Given the description of an element on the screen output the (x, y) to click on. 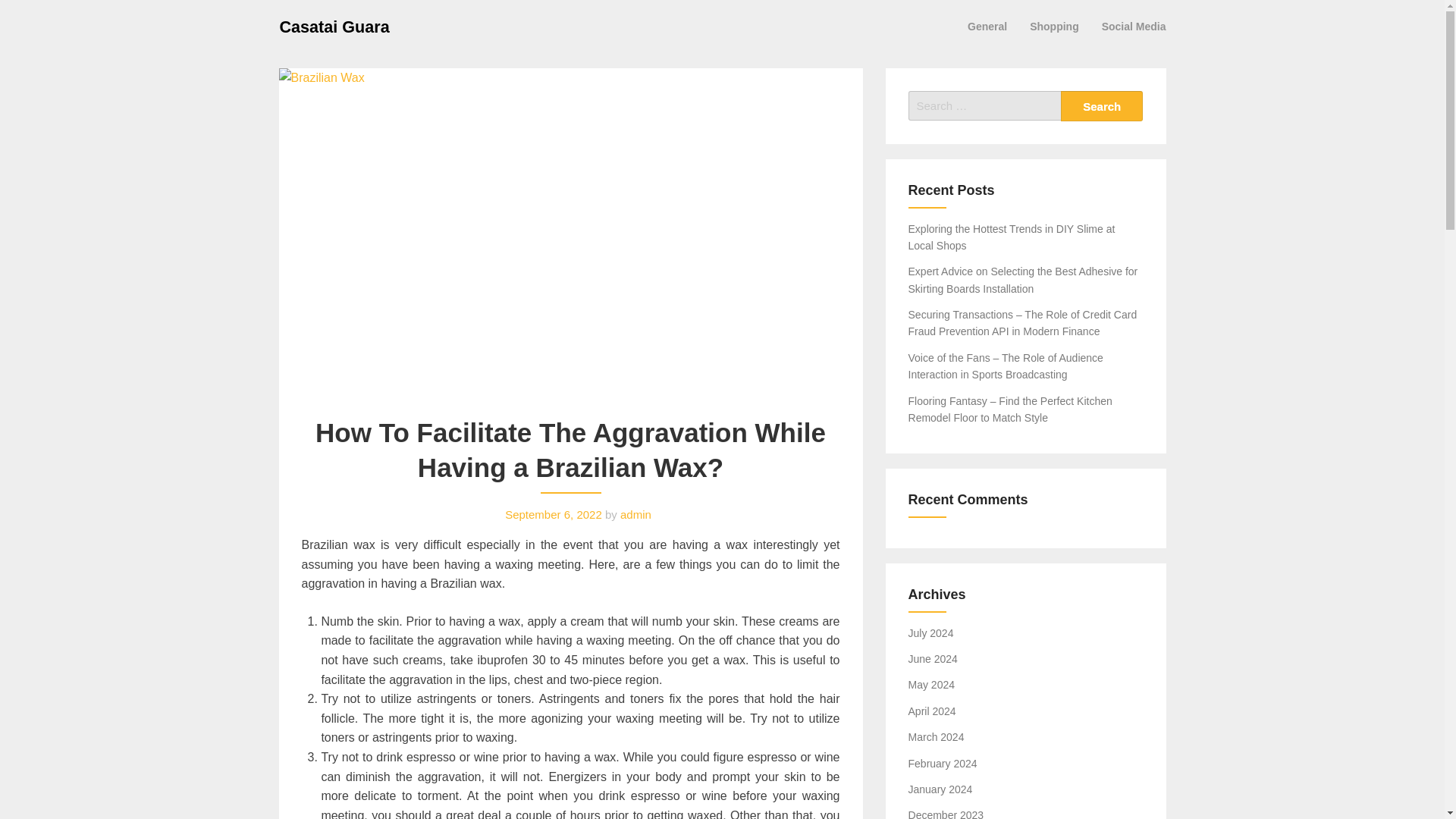
Search (1101, 105)
September 6, 2022 (553, 513)
June 2024 (933, 658)
General (986, 26)
Search (1101, 105)
March 2024 (935, 736)
December 2023 (946, 814)
Exploring the Hottest Trends in DIY Slime at Local Shops (1011, 236)
May 2024 (931, 684)
April 2024 (932, 711)
Shopping (1053, 26)
Social Media (1133, 26)
February 2024 (942, 763)
Search (1101, 105)
